Given the description of an element on the screen output the (x, y) to click on. 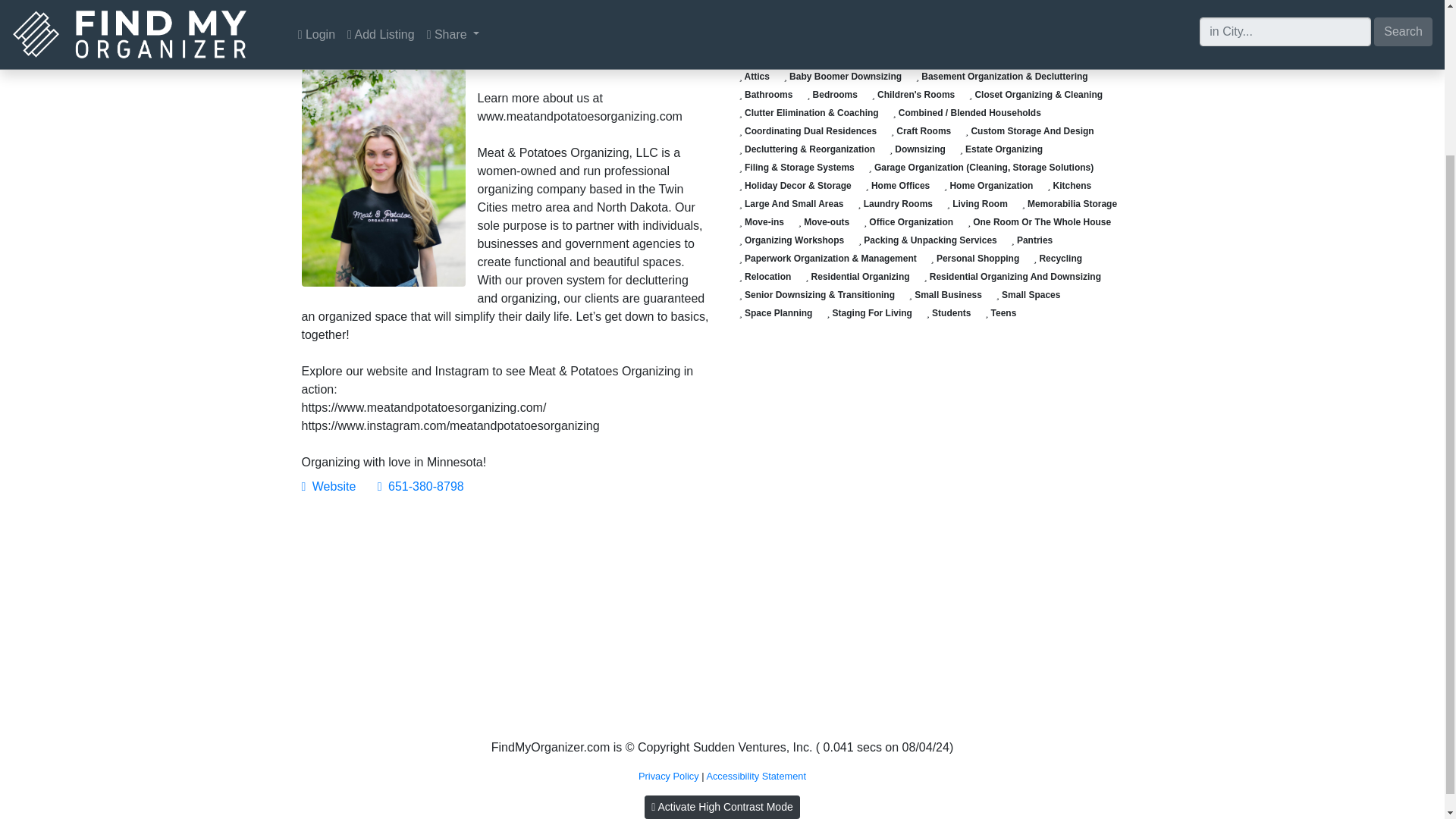
Accessibility Statement (756, 776)
Privacy Policy (668, 776)
Contact (403, 14)
About (333, 14)
Website (328, 486)
651-380-8798 (420, 486)
Advertisement (506, 620)
Photos (476, 14)
